Given the description of an element on the screen output the (x, y) to click on. 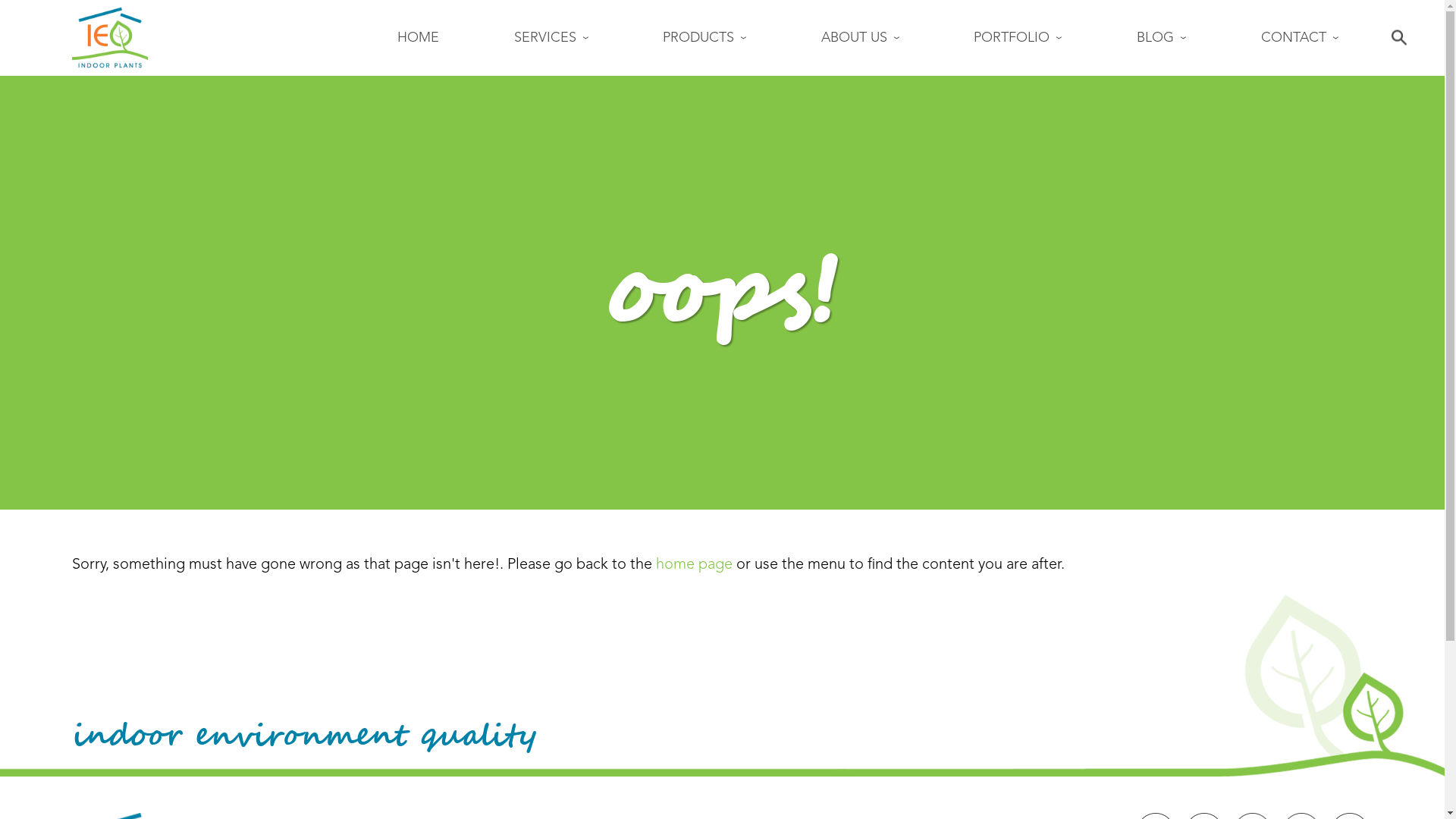
PRODUCTS Element type: text (704, 37)
home page Element type: text (693, 563)
CONTACT Element type: text (1299, 37)
HOME Element type: text (418, 37)
IEQ Indoor Plants Brisbane Element type: hover (109, 37)
ABOUT US Element type: text (860, 37)
Search Element type: text (1398, 37)
PORTFOLIO Element type: text (1017, 37)
BLOG Element type: text (1161, 37)
SERVICES Element type: text (551, 37)
